Given the description of an element on the screen output the (x, y) to click on. 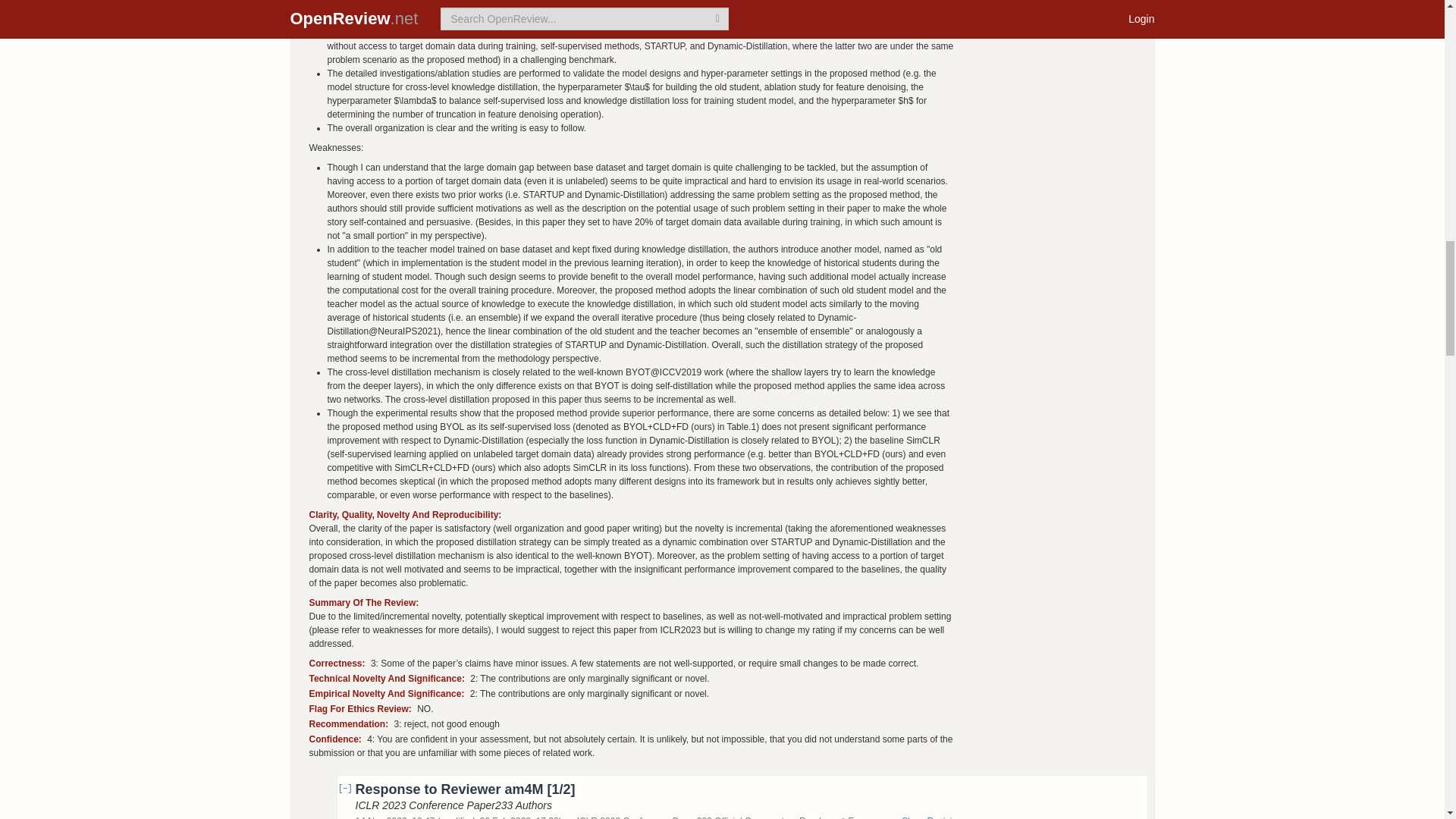
Show Revisions (941, 817)
